Given the description of an element on the screen output the (x, y) to click on. 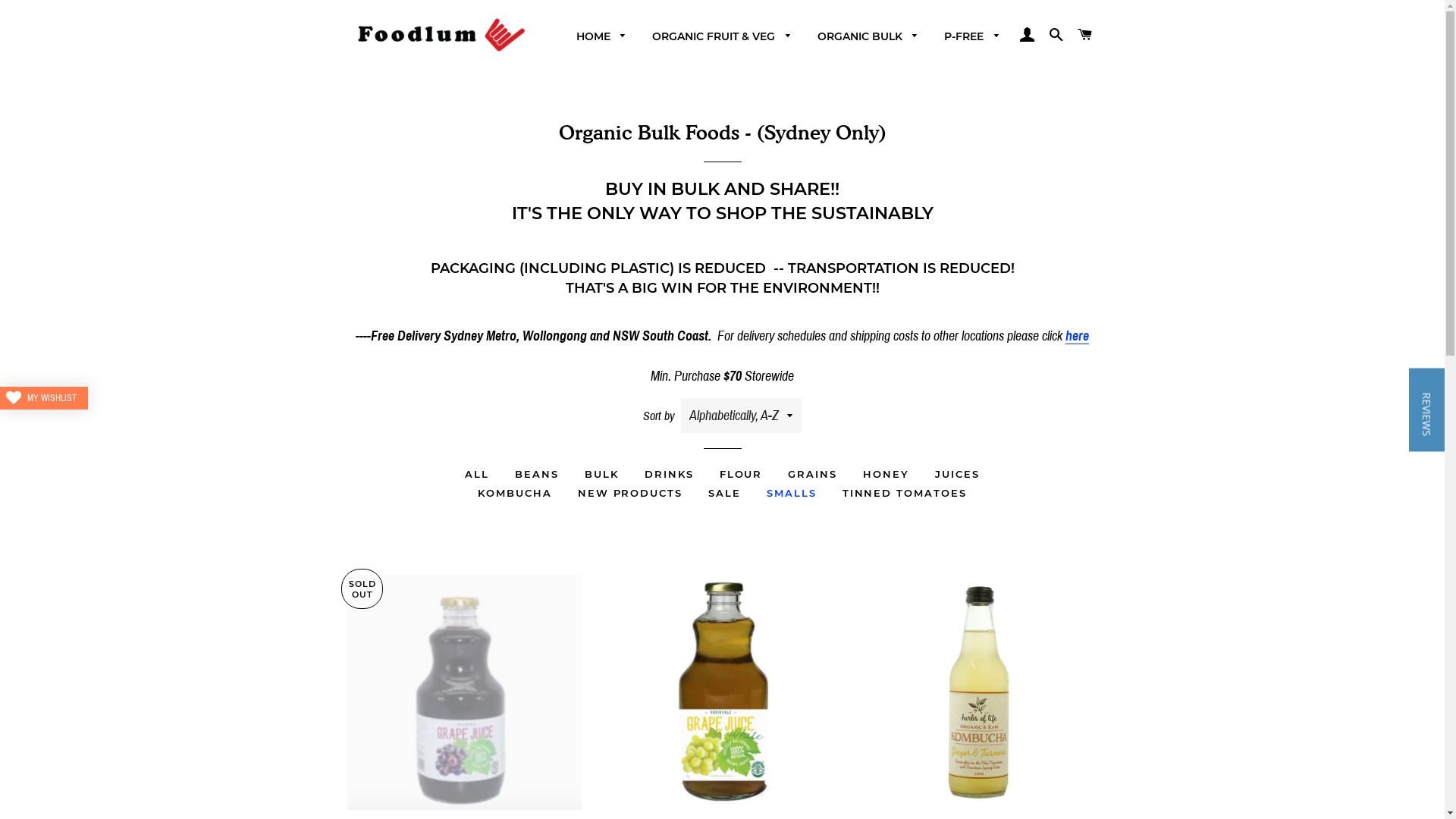
SEARCH Element type: text (1056, 34)
GRAINS Element type: text (812, 473)
FLOUR Element type: text (741, 473)
JUICES Element type: text (957, 473)
SALE Element type: text (724, 492)
ALL Element type: text (476, 473)
ORGANIC BULK Element type: text (867, 36)
KOMBUCHA Element type: text (514, 492)
here Element type: text (1076, 336)
LOG IN Element type: text (1027, 34)
BEANS Element type: text (536, 473)
DRINKS Element type: text (669, 473)
P-FREE Element type: text (971, 36)
BULK Element type: text (601, 473)
TINNED TOMATOES Element type: text (904, 492)
SMALLS Element type: text (791, 492)
CART Element type: text (1085, 34)
HONEY Element type: text (885, 473)
NEW PRODUCTS Element type: text (629, 492)
MY WISHLIST Element type: text (43, 397)
HOME Element type: text (600, 36)
ORGANIC FRUIT & VEG Element type: text (721, 36)
